Given the description of an element on the screen output the (x, y) to click on. 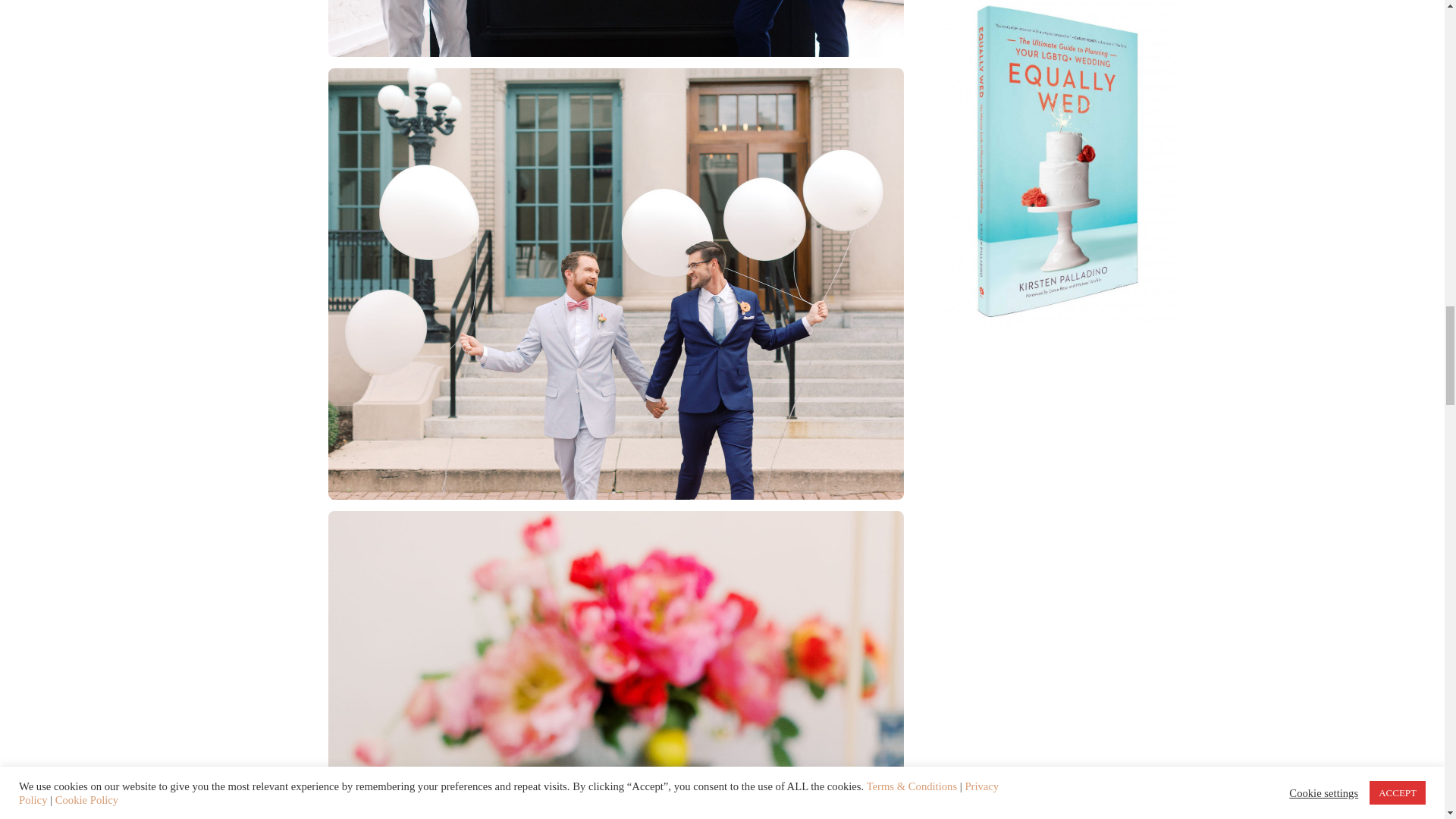
Summer citrus wedding inspiration at historic post office (614, 282)
